Given the description of an element on the screen output the (x, y) to click on. 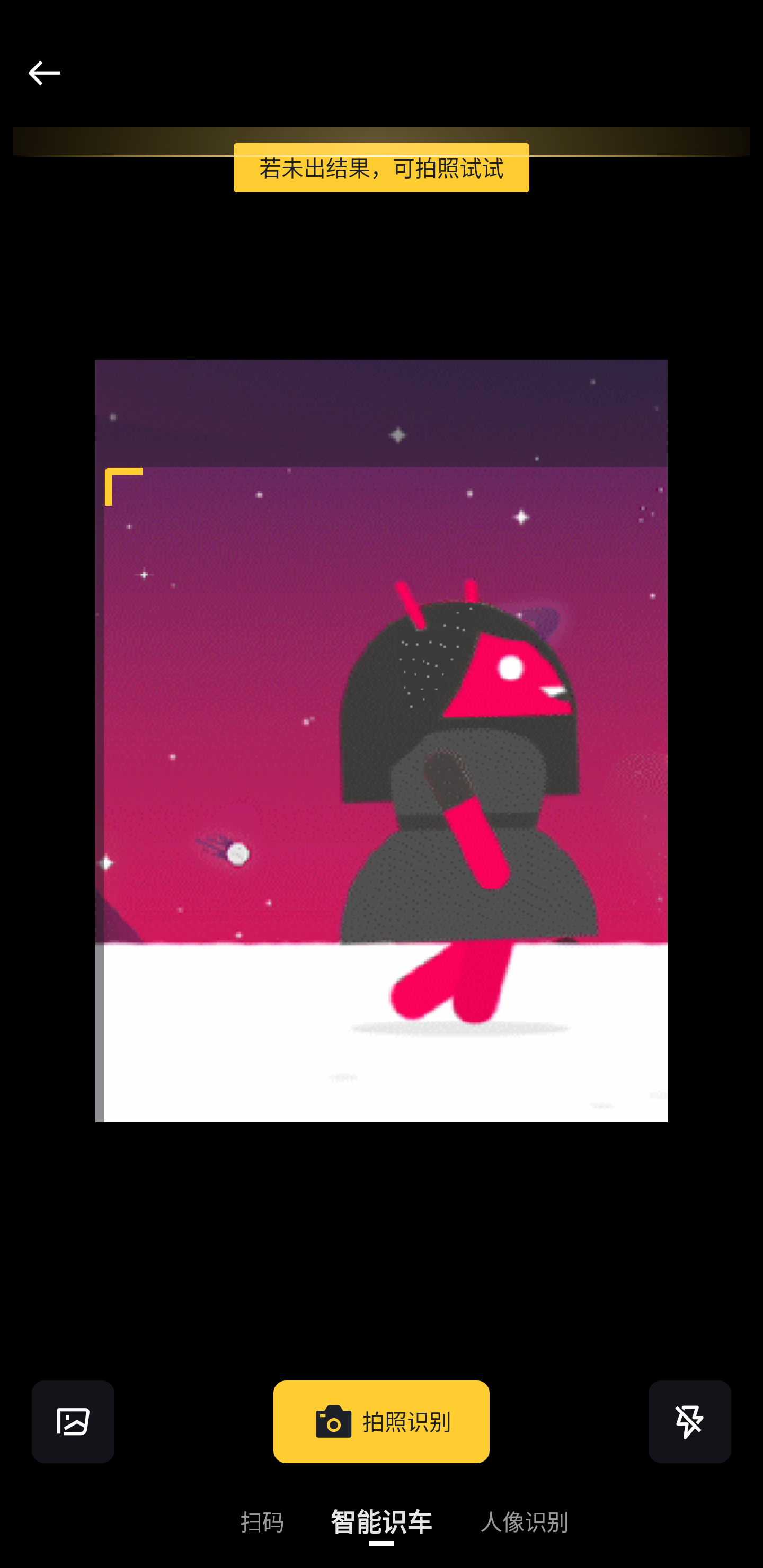
 (44, 72)
 (73, 1420)
拍照识别 (381, 1420)
 (689, 1420)
